Given the description of an element on the screen output the (x, y) to click on. 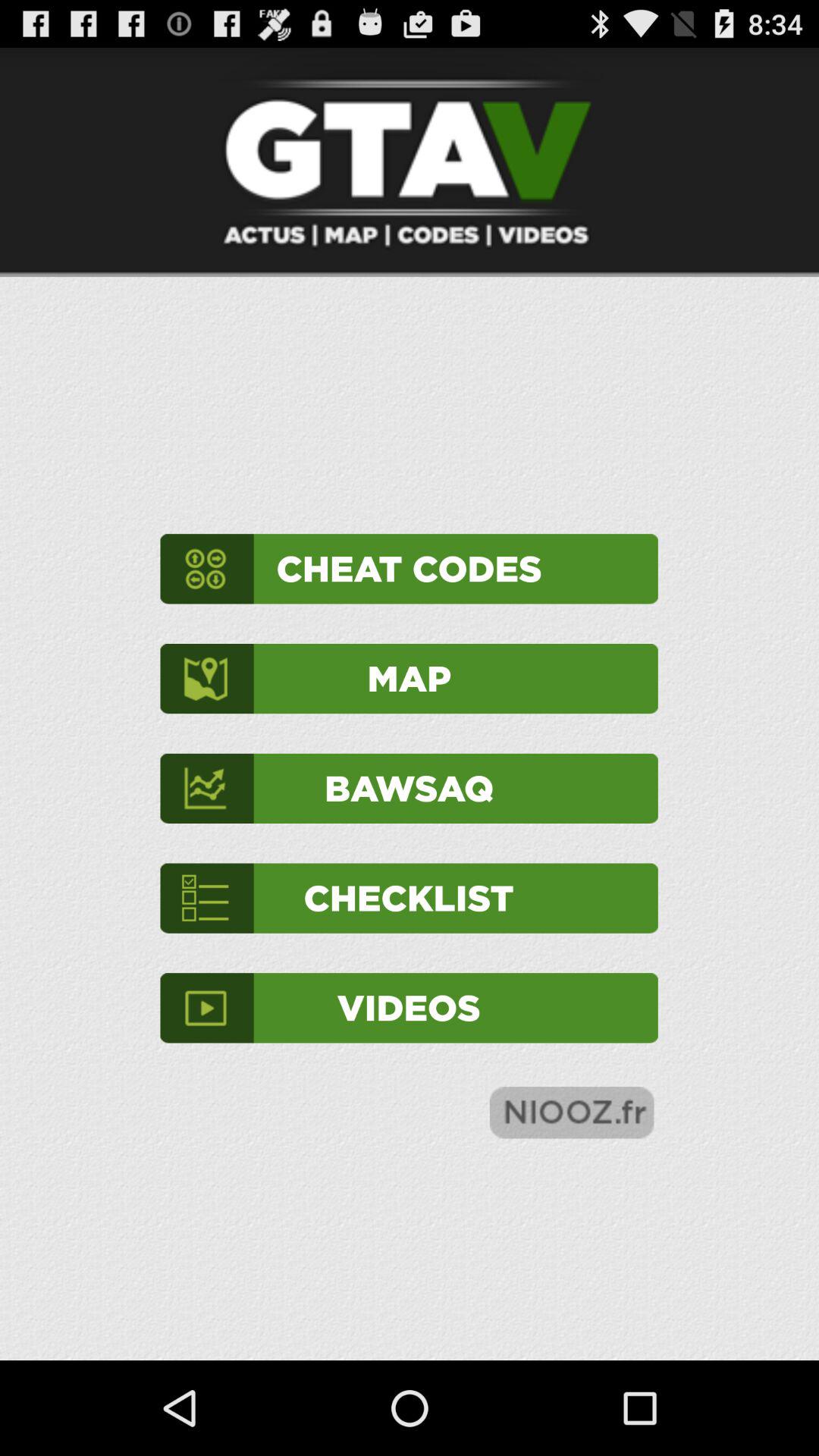
select videos item (409, 1008)
